Given the description of an element on the screen output the (x, y) to click on. 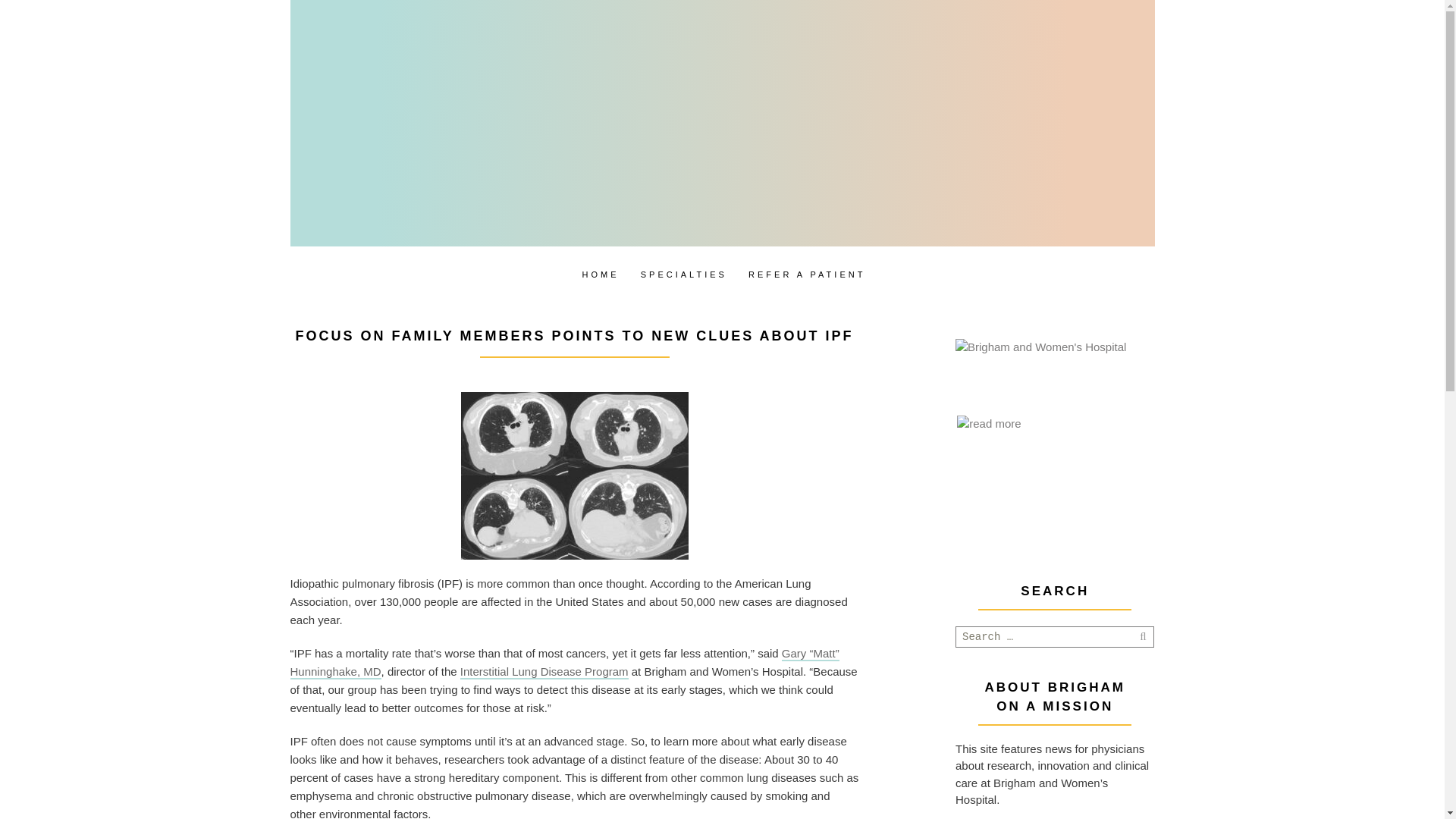
HOME (601, 277)
Interstitial Lung Disease Program (544, 671)
REFER A PATIENT (807, 277)
Brigham On a Mission (644, 79)
SPECIALTIES (684, 277)
